Given the description of an element on the screen output the (x, y) to click on. 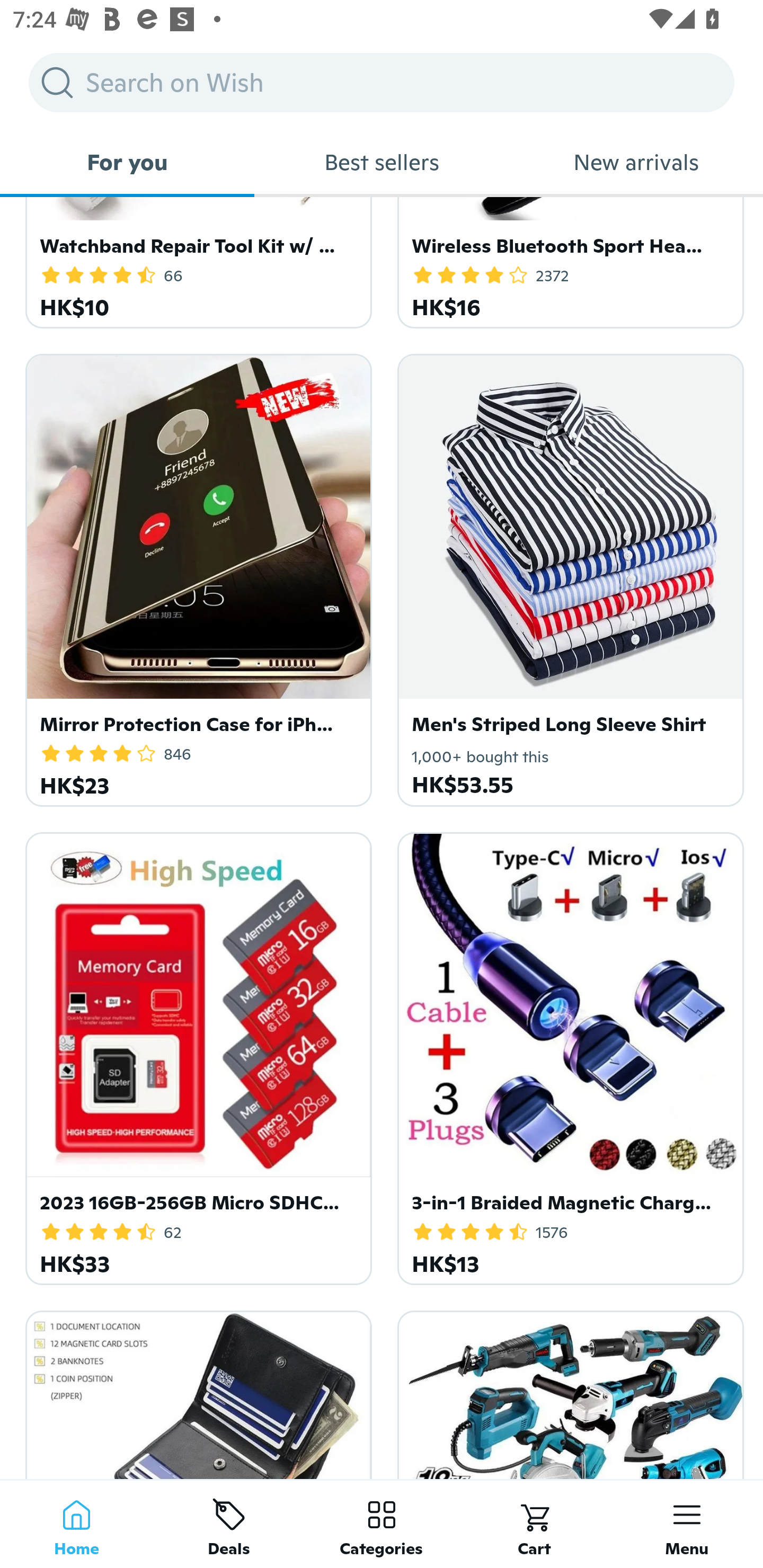
Search on Wish (381, 82)
For you (127, 161)
Best sellers (381, 161)
New arrivals (635, 161)
Home (76, 1523)
Deals (228, 1523)
Categories (381, 1523)
Cart (533, 1523)
Menu (686, 1523)
